Given the description of an element on the screen output the (x, y) to click on. 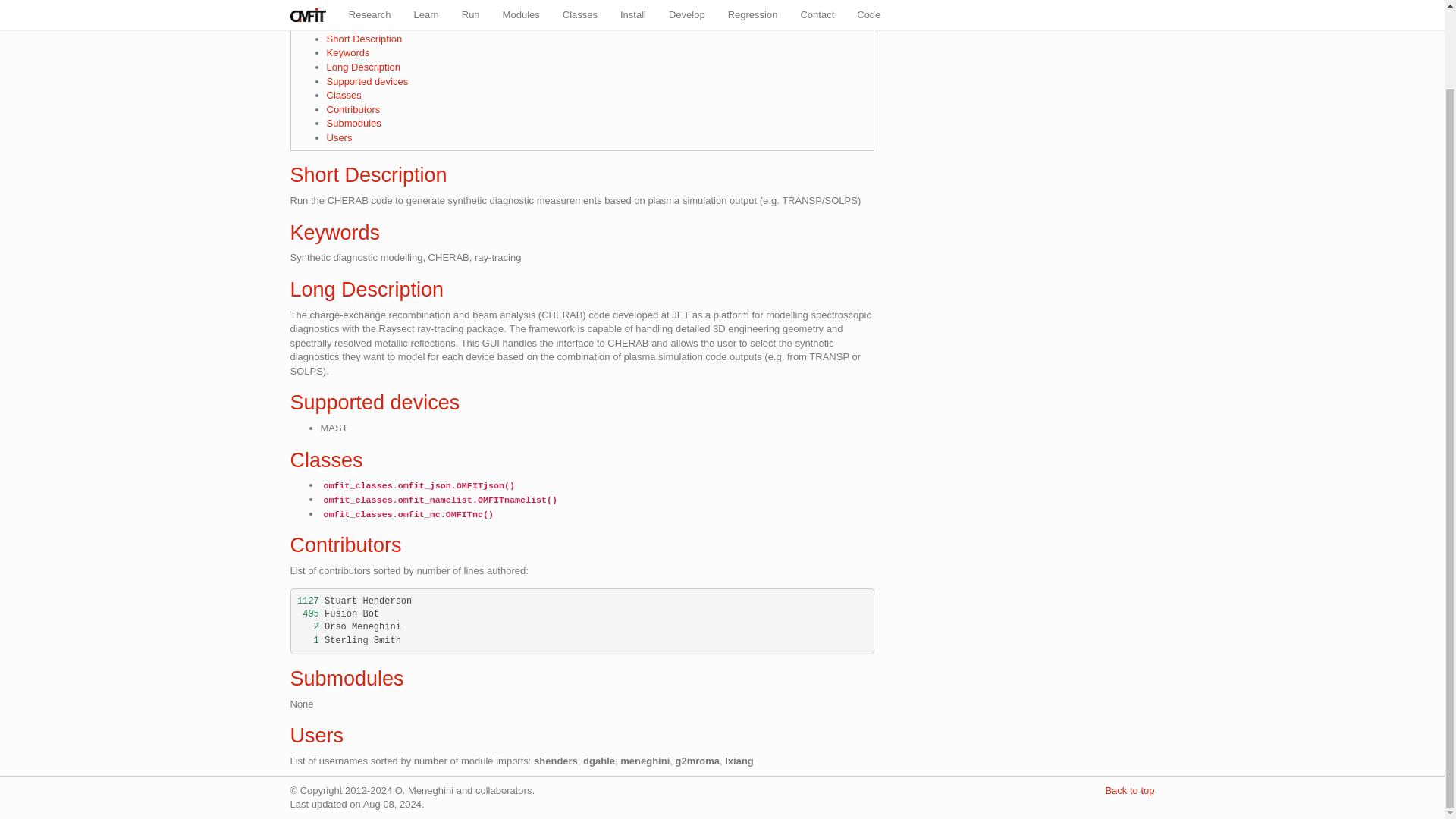
Keywords (334, 232)
Short Description (367, 174)
Contributors (353, 109)
Submodules (353, 122)
Classes (325, 459)
Supported devices (366, 81)
Contributors (345, 544)
Keywords (347, 52)
Users (339, 137)
Users (316, 734)
